Given the description of an element on the screen output the (x, y) to click on. 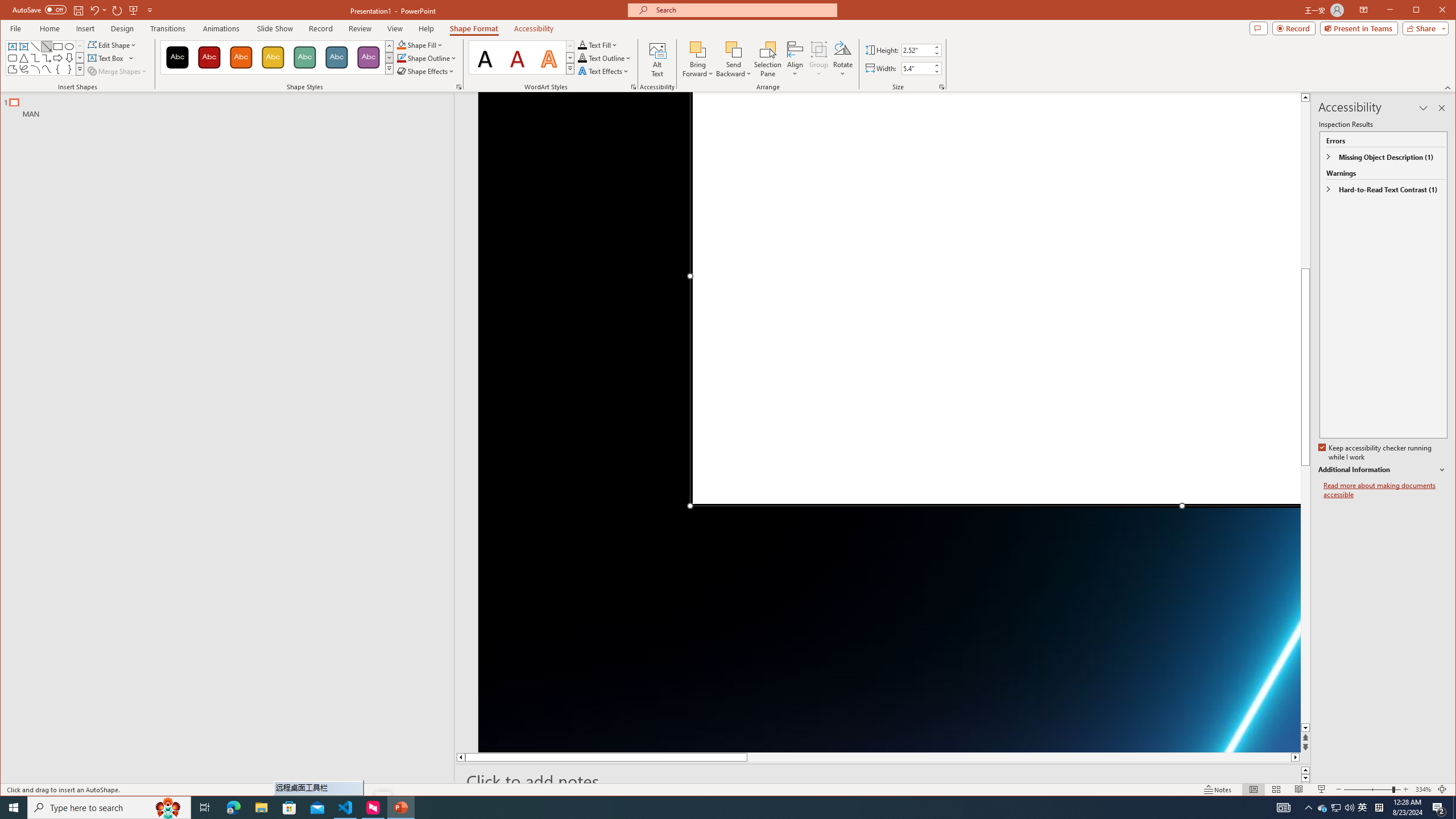
Bring Forward (697, 48)
Isosceles Triangle (23, 57)
Line Arrow (46, 46)
Shape Effects (425, 70)
Size and Position... (941, 86)
Bring Forward (697, 59)
